Given the description of an element on the screen output the (x, y) to click on. 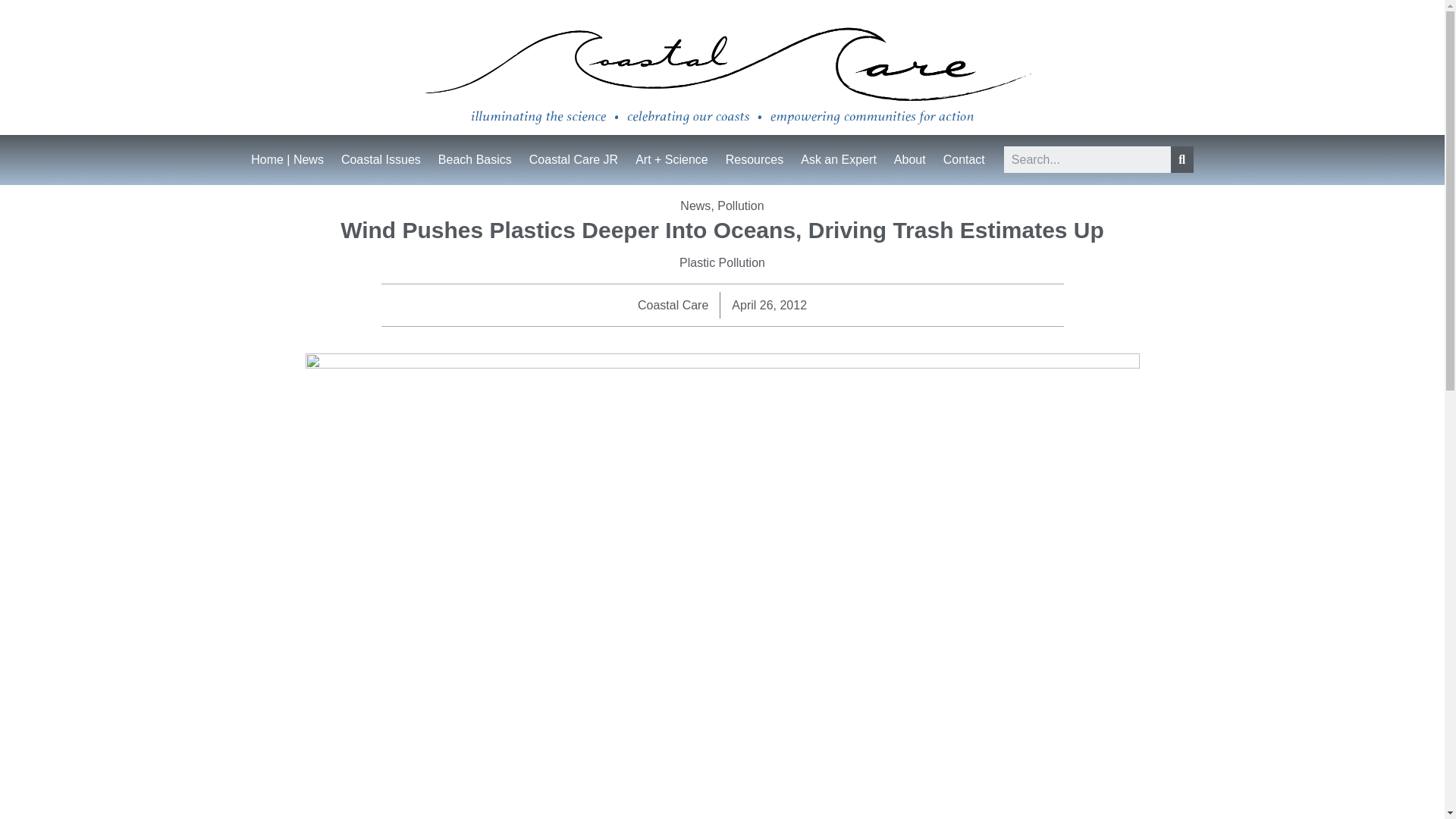
Coastal Care JR (573, 159)
Contact (964, 159)
Coastal Issues (380, 159)
Beach Basics (475, 159)
Search (1087, 159)
About (909, 159)
Resources (754, 159)
Ask an Expert (838, 159)
